Given the description of an element on the screen output the (x, y) to click on. 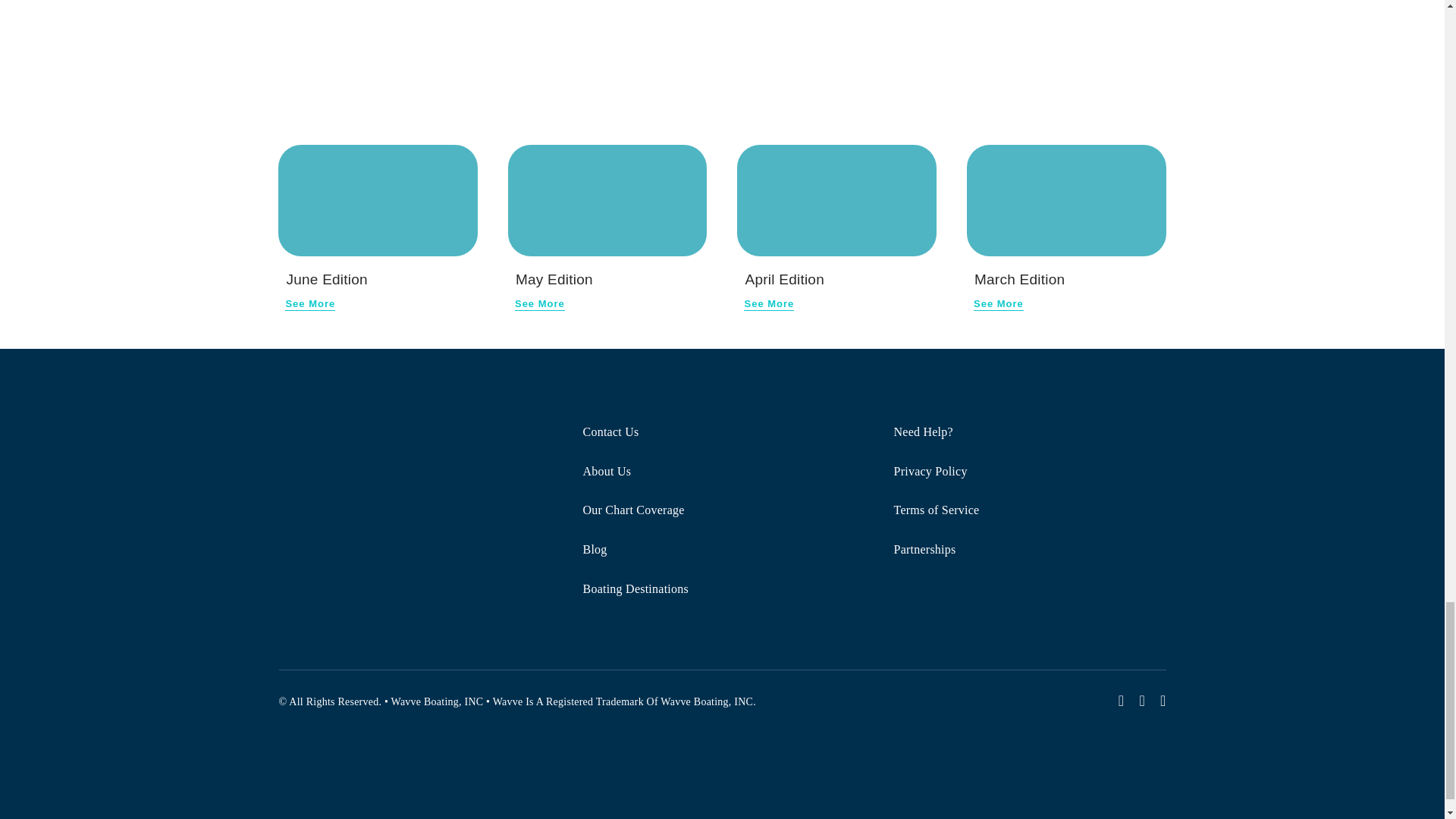
See More (539, 303)
See More (998, 303)
Blog (721, 550)
March Edition (1019, 279)
April Edition (784, 279)
Our Chart Coverage (721, 511)
About Us (721, 472)
May Edition (607, 200)
June Edition (377, 200)
Privacy Policy (1032, 472)
